Given the description of an element on the screen output the (x, y) to click on. 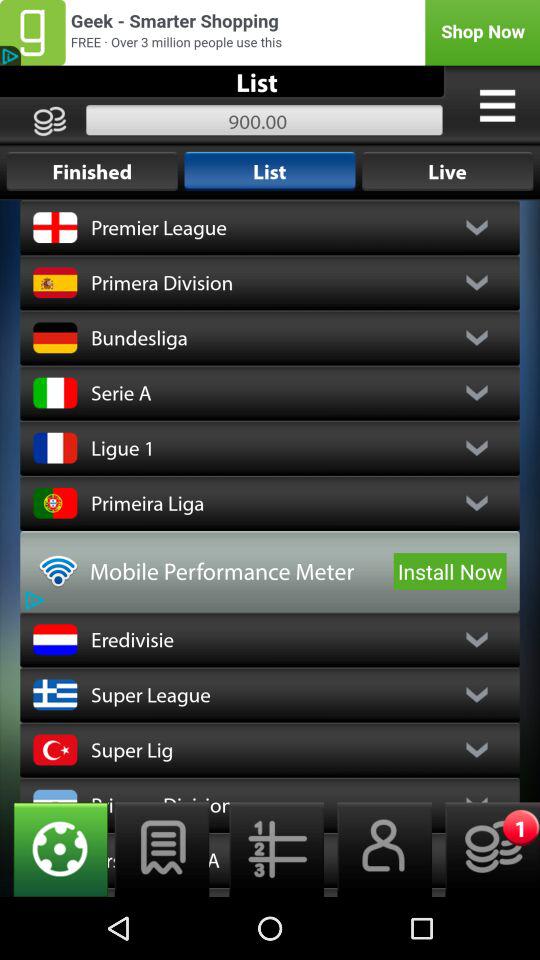
show the menu options (497, 105)
